Given the description of an element on the screen output the (x, y) to click on. 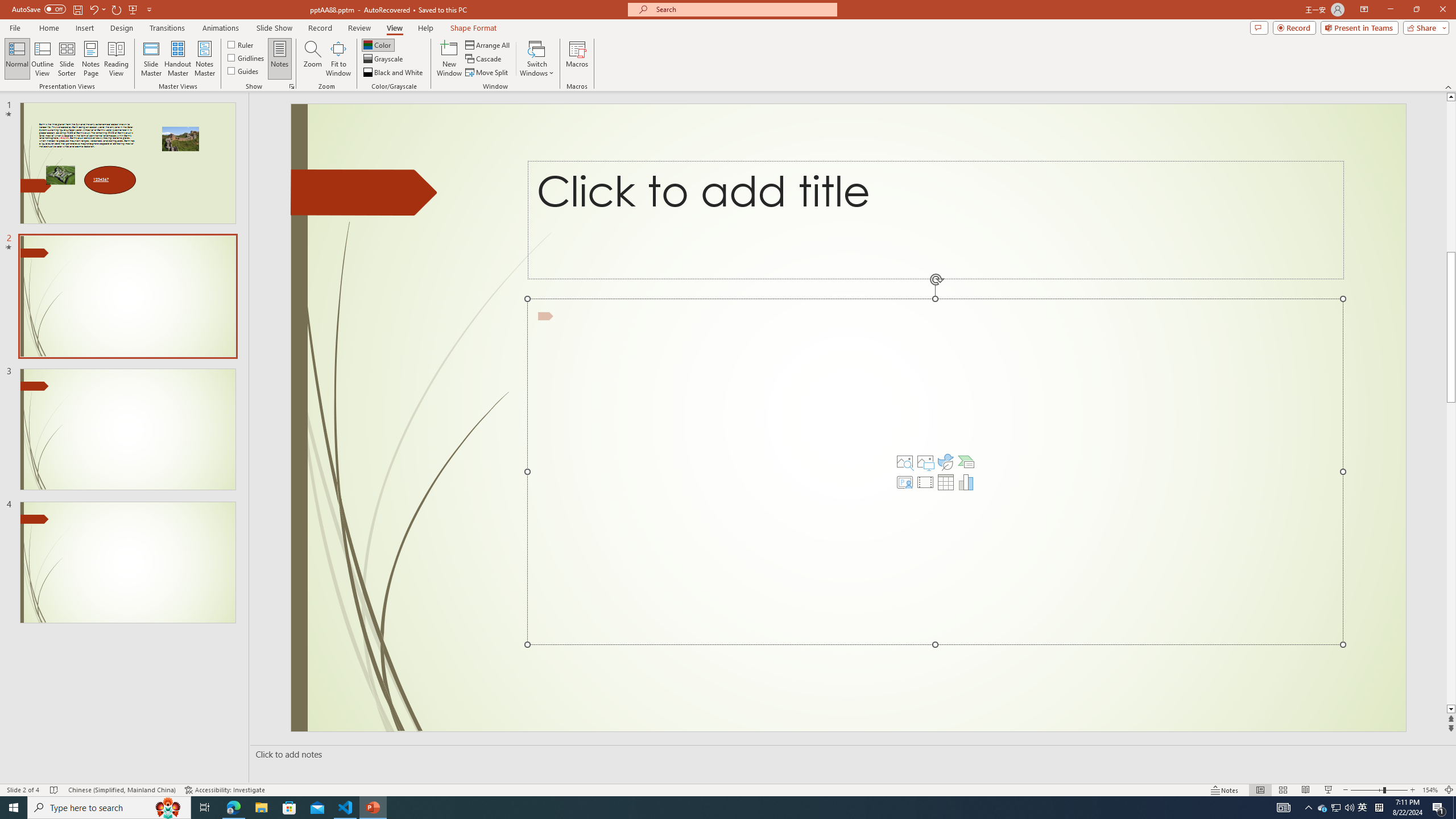
Slide Master (151, 58)
Cascade (484, 58)
Black and White (393, 72)
Fit to Window (338, 58)
